Given the description of an element on the screen output the (x, y) to click on. 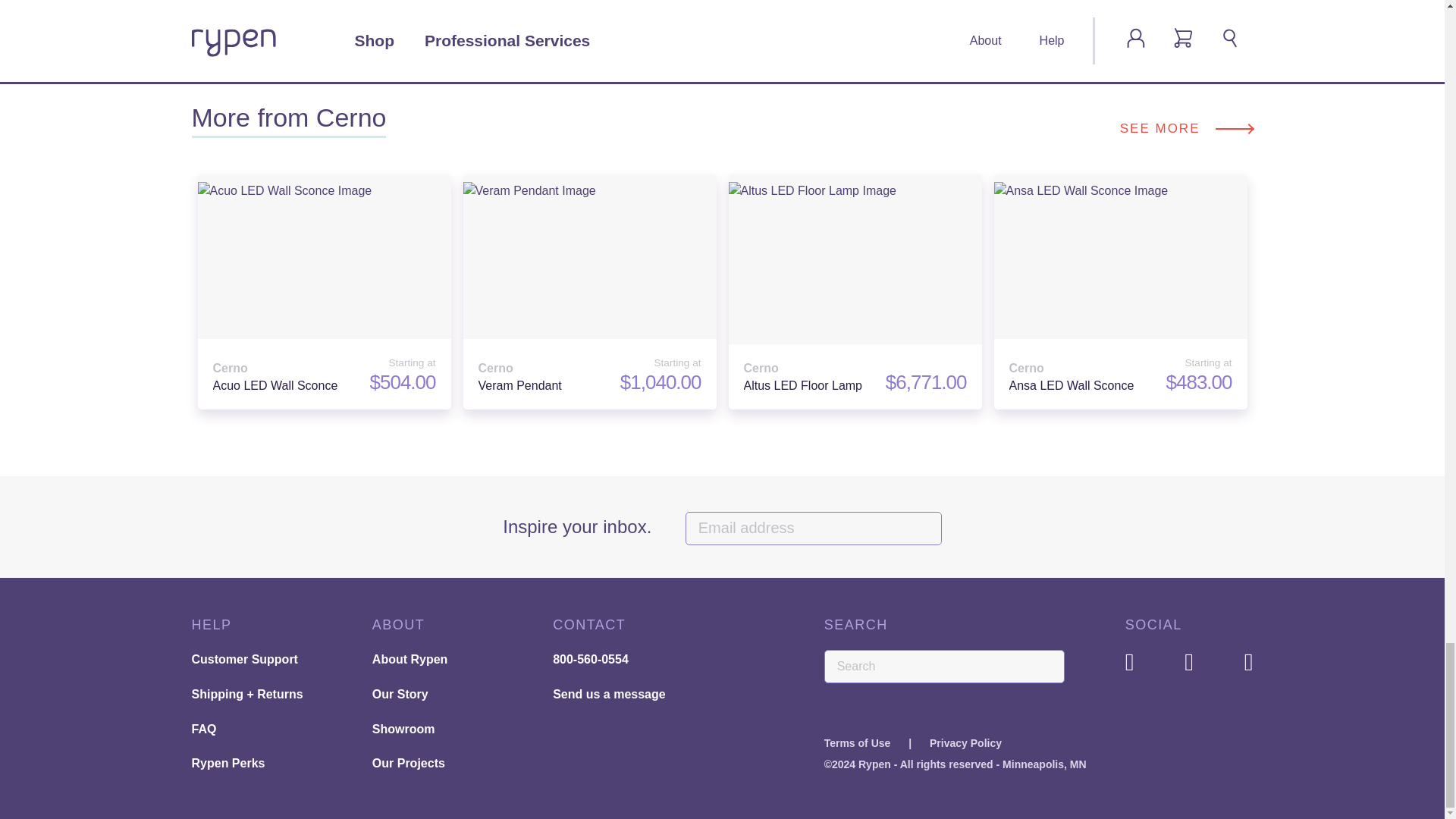
SEE MORE (1186, 128)
FAQ (962, 2)
Customer Support (202, 728)
